Given the description of an element on the screen output the (x, y) to click on. 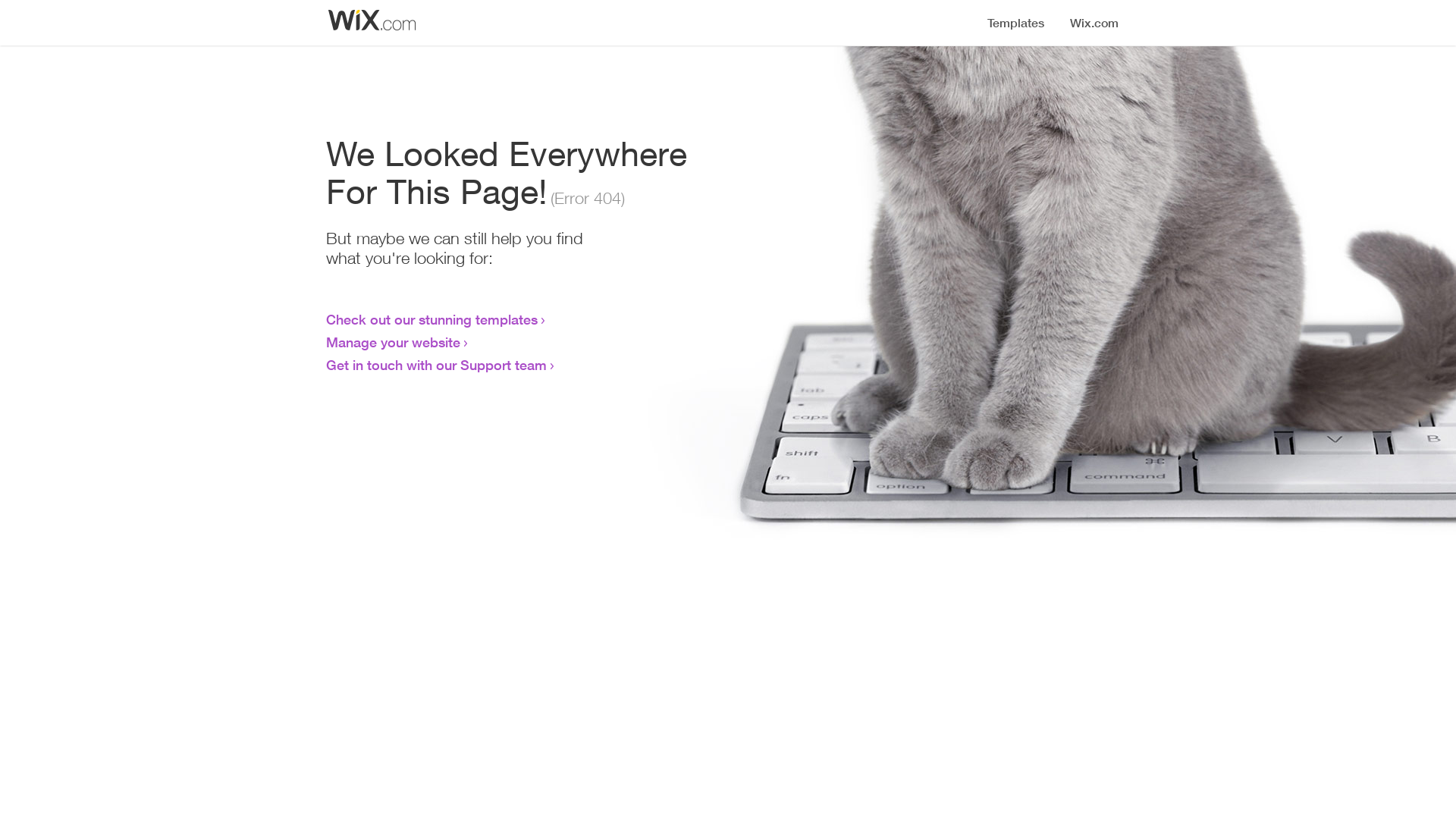
Get in touch with our Support team Element type: text (436, 364)
Manage your website Element type: text (393, 341)
Check out our stunning templates Element type: text (431, 318)
